Given the description of an element on the screen output the (x, y) to click on. 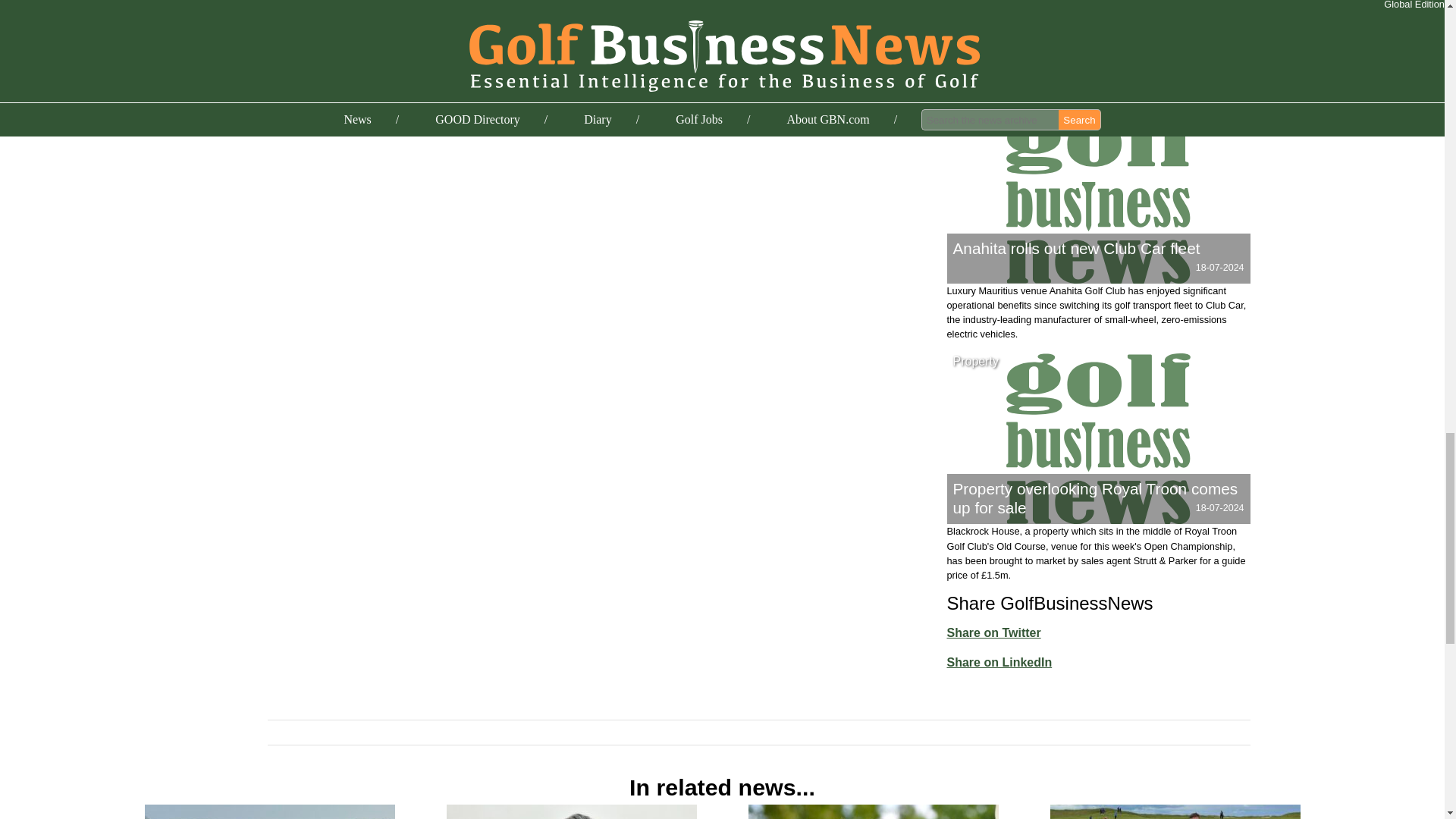
Machrihanish Dunes Appoints New Resort Director (269, 811)
Share on LinkedIn (998, 661)
Clubhouse (981, 120)
Property (975, 360)
Share on Twitter (993, 632)
Marco Simone Appoints New General Manager (872, 811)
